Given the description of an element on the screen output the (x, y) to click on. 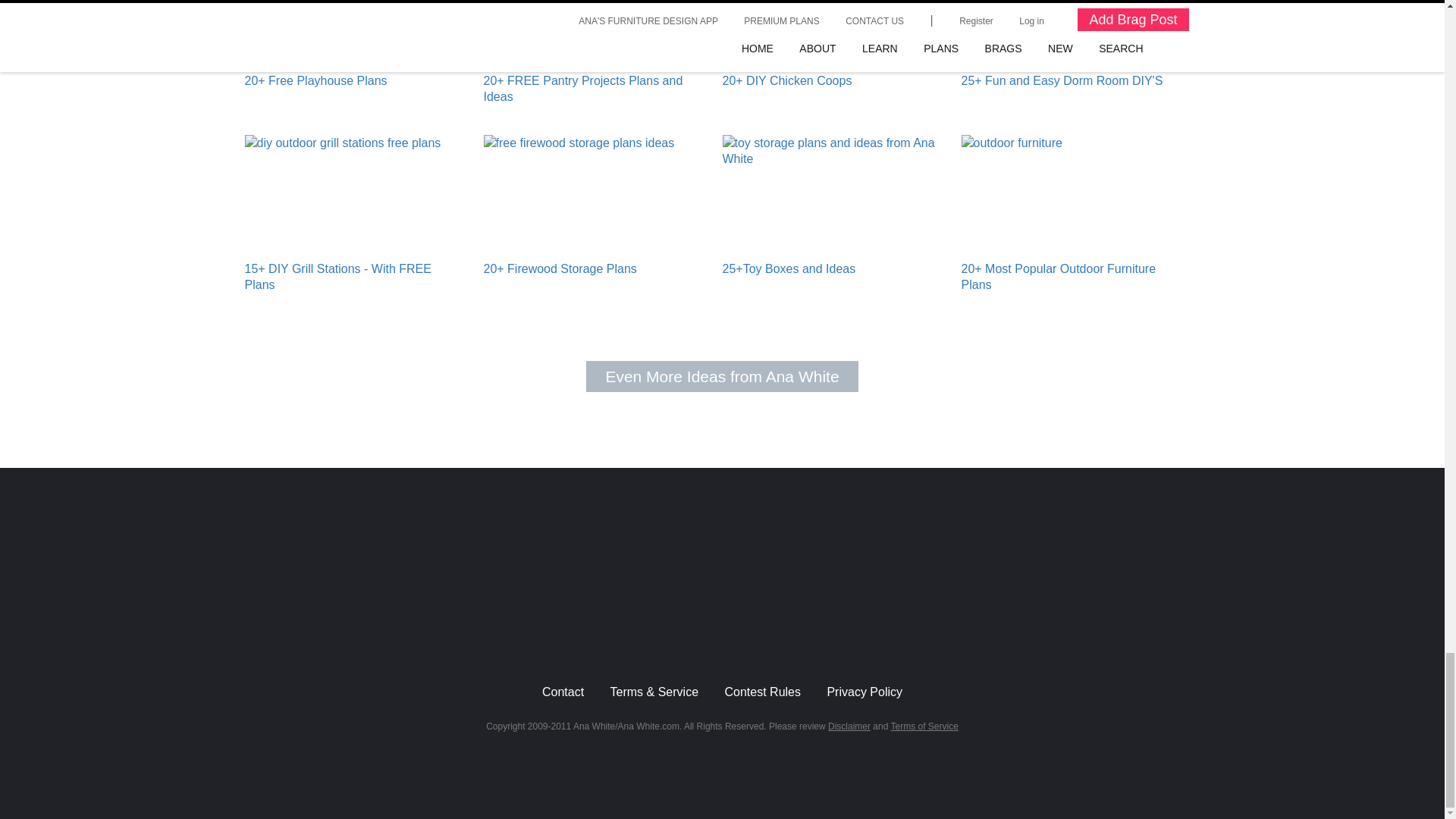
Instagram (648, 623)
YouTube (697, 623)
Facebook (746, 623)
Pinterest (795, 623)
